Given the description of an element on the screen output the (x, y) to click on. 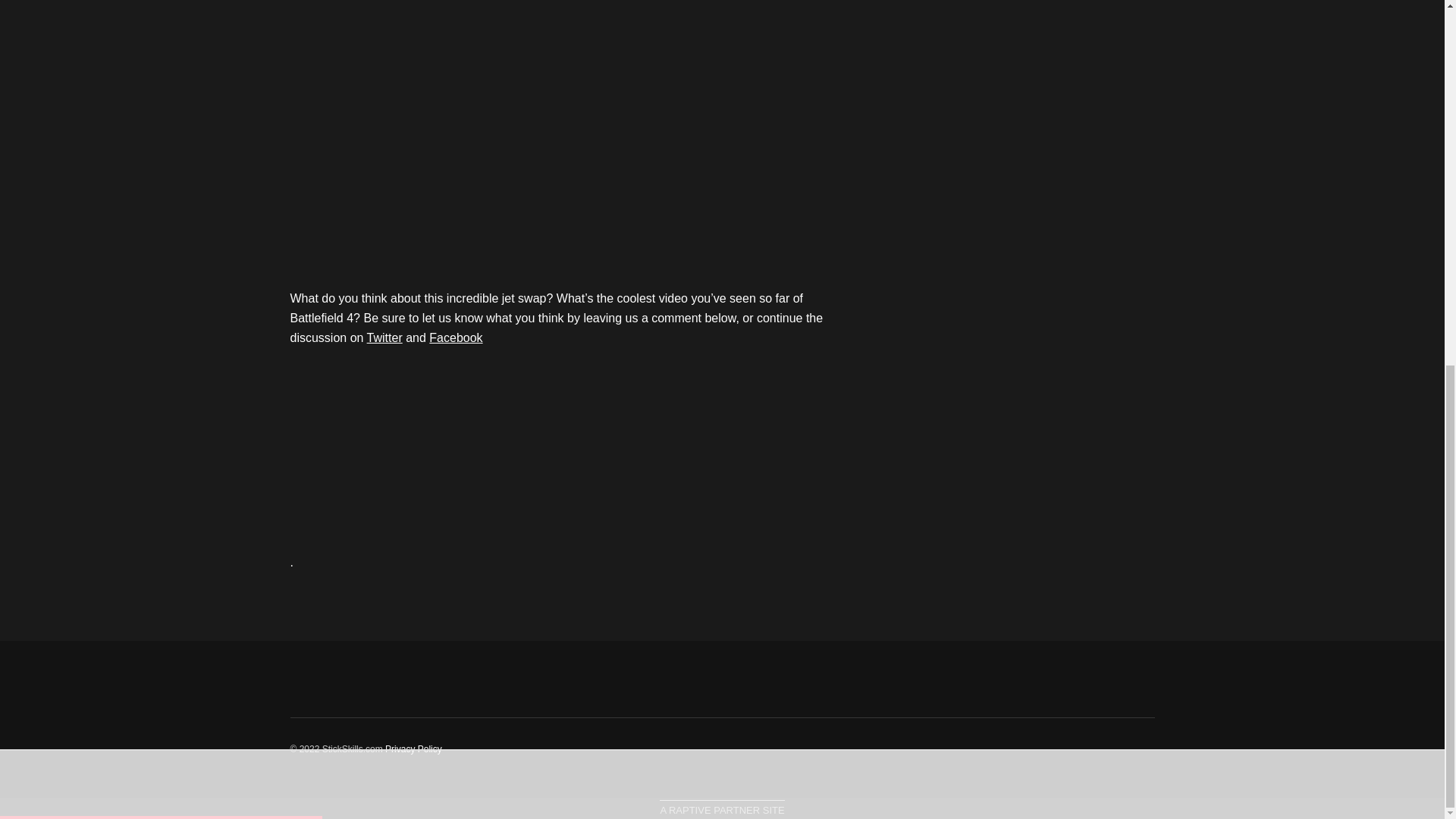
Twitter (384, 337)
Privacy Policy (413, 748)
Facebook (455, 337)
